Given the description of an element on the screen output the (x, y) to click on. 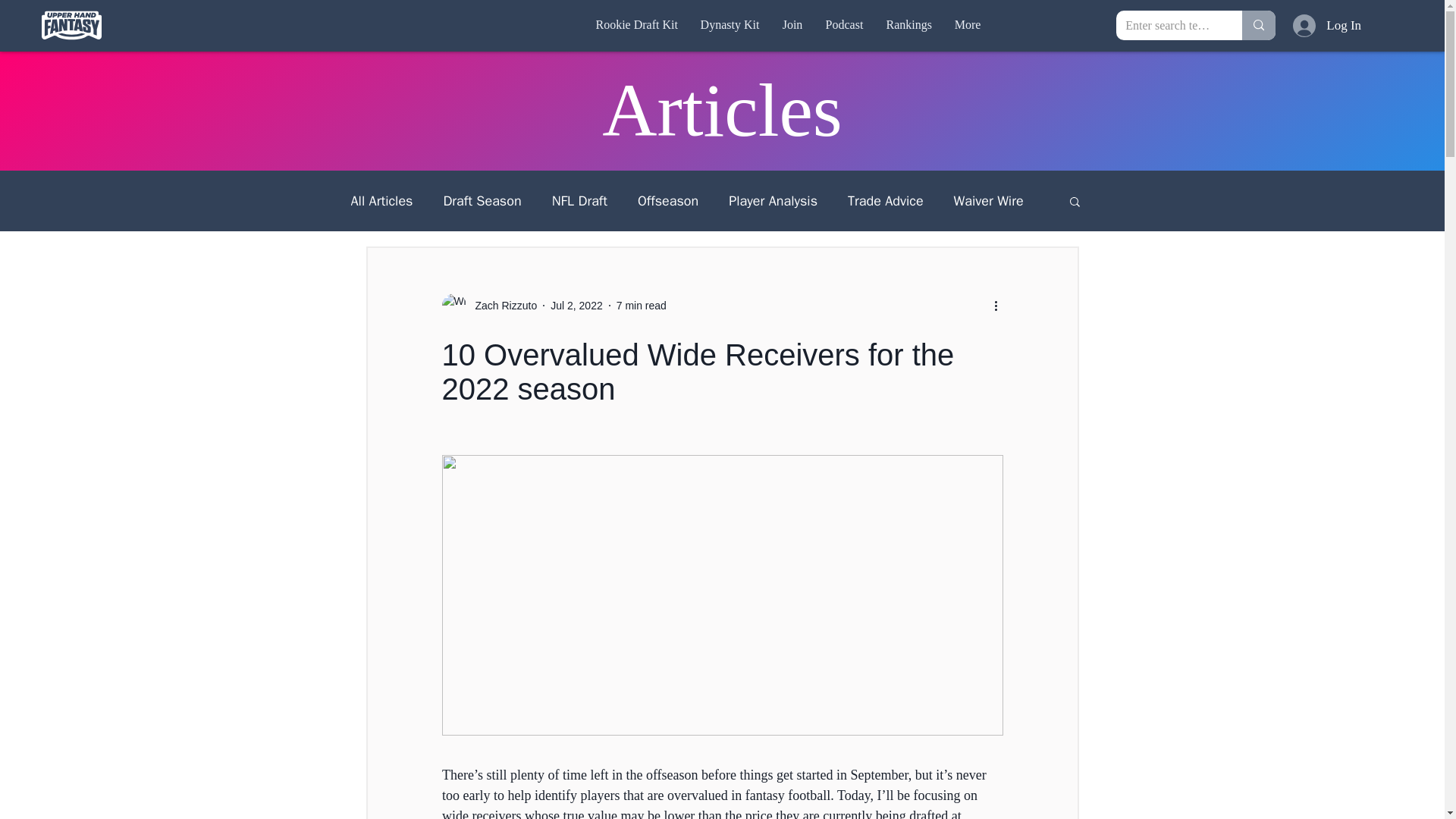
Jul 2, 2022 (576, 304)
All Articles (381, 200)
Trade Advice (885, 200)
Waiver Wire (988, 200)
Offseason (667, 200)
Podcast (844, 24)
Zach Rizzuto (489, 305)
NFL Draft (579, 200)
Log In (1308, 24)
Zach Rizzuto (501, 304)
Draft Season (481, 200)
7 min read (640, 304)
Join (791, 24)
Player Analysis (772, 200)
